Given the description of an element on the screen output the (x, y) to click on. 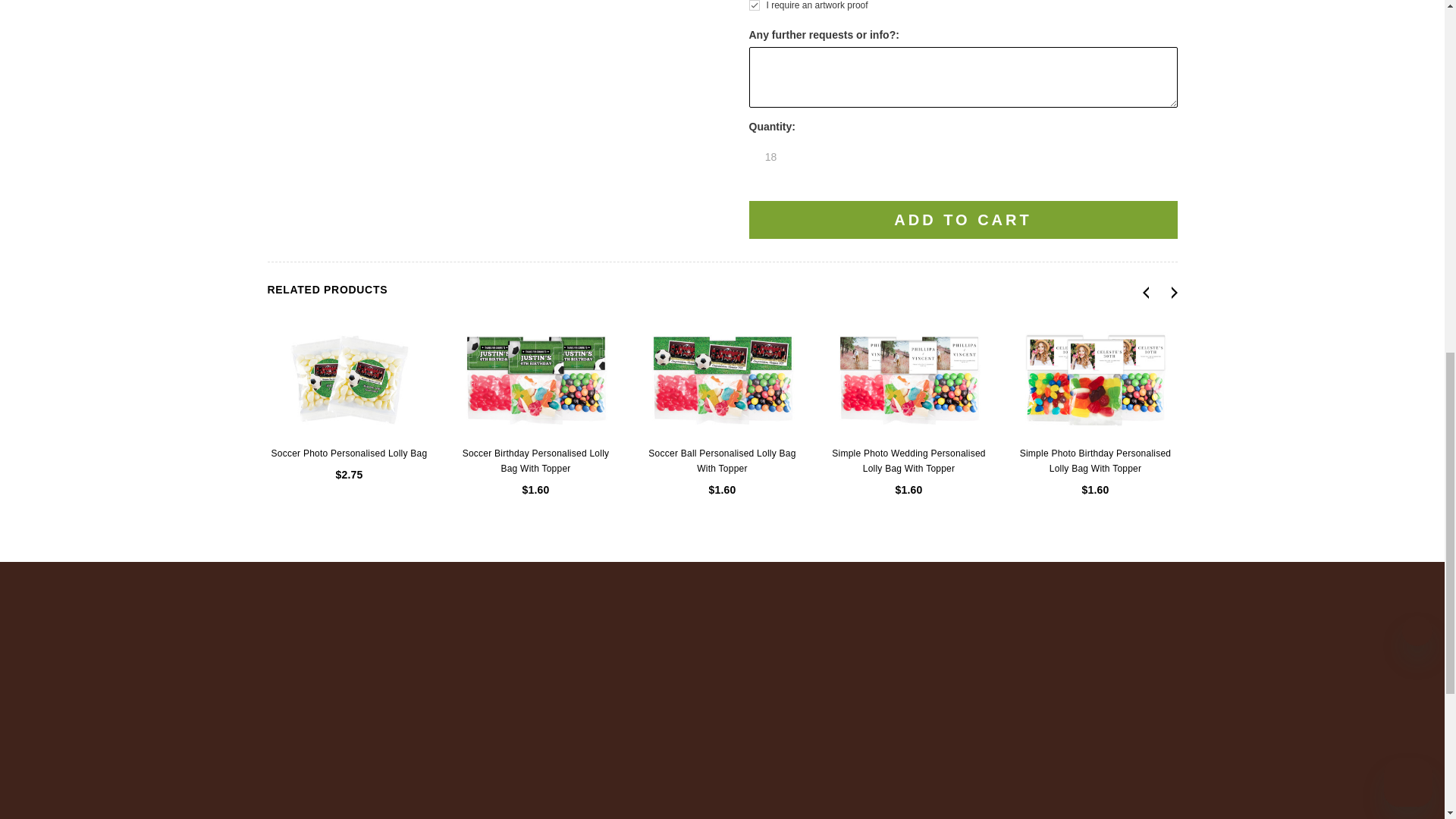
Soccer Photo Personalised Lolly Bag (348, 379)
Soccer Birthday Personalised Lolly Bag With Topper (534, 379)
18 (771, 156)
Soccer Ball Personalised Lolly Bag With Topper (721, 379)
Simple Photo Wedding Personalised Lolly Bag With Topper (908, 379)
Add to Cart (963, 219)
Simple Photo Birthday Personalised Lolly Bag With Topper (1094, 379)
